Given the description of an element on the screen output the (x, y) to click on. 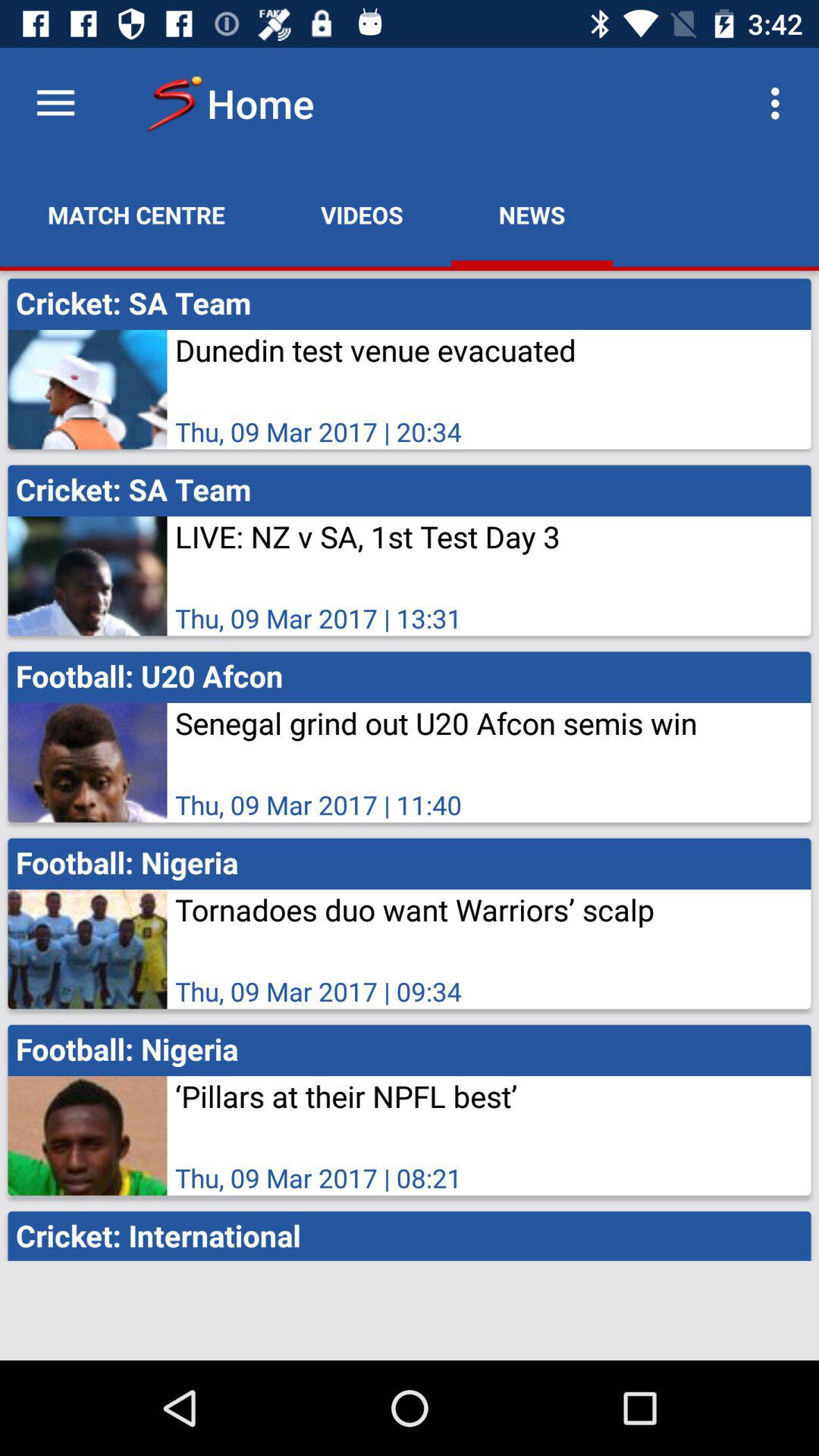
launch the icon to the left of the news app (362, 214)
